Given the description of an element on the screen output the (x, y) to click on. 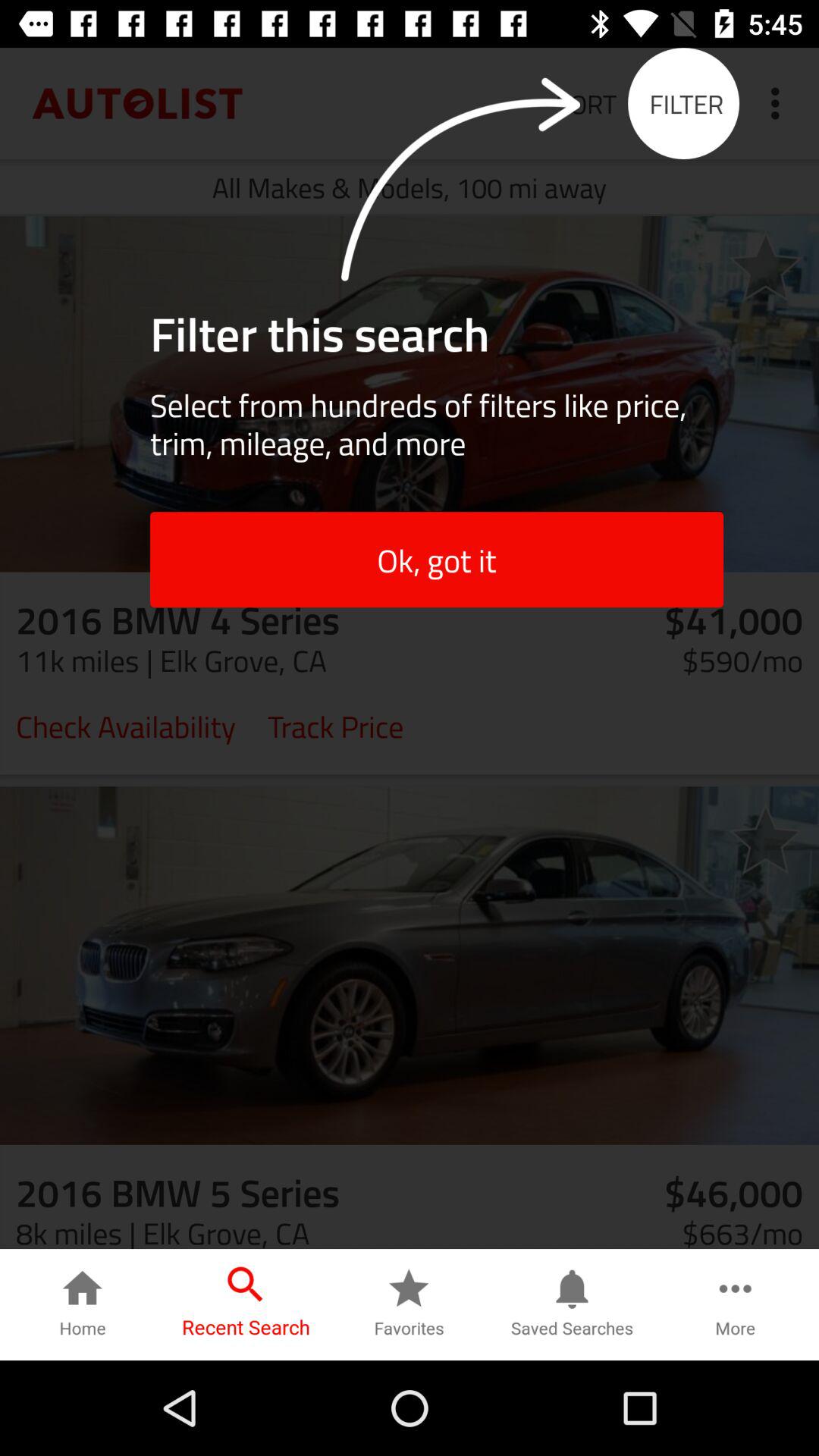
press the item to the left of track price icon (125, 725)
